Given the description of an element on the screen output the (x, y) to click on. 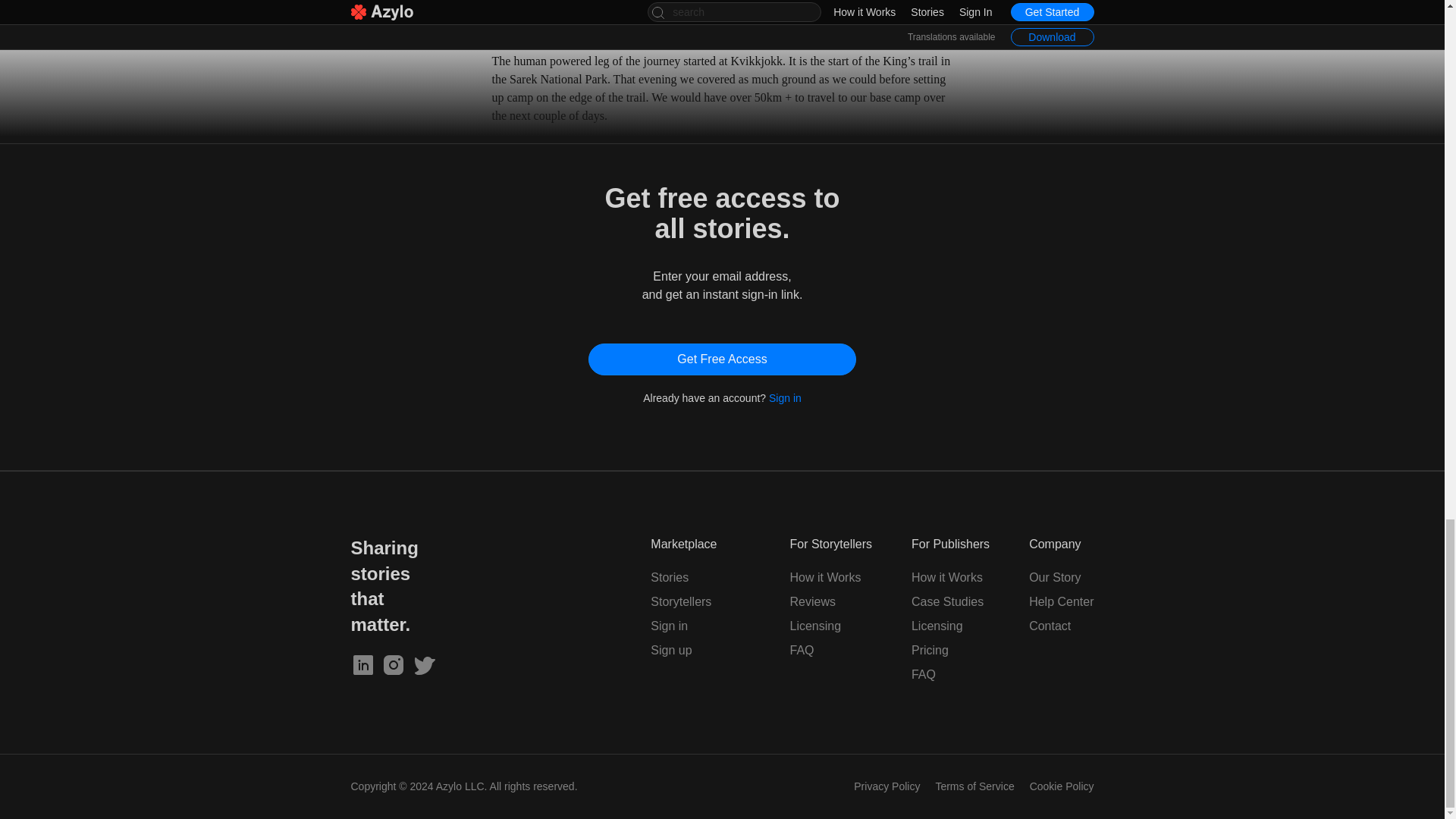
How it Works (946, 576)
Terms of Service (973, 786)
Privacy Policy (886, 786)
Storytellers (680, 601)
Contact (1049, 625)
Stories (669, 576)
Get Free Access (722, 358)
Licensing (936, 625)
Sign up (670, 649)
Our Story (1054, 576)
